Given the description of an element on the screen output the (x, y) to click on. 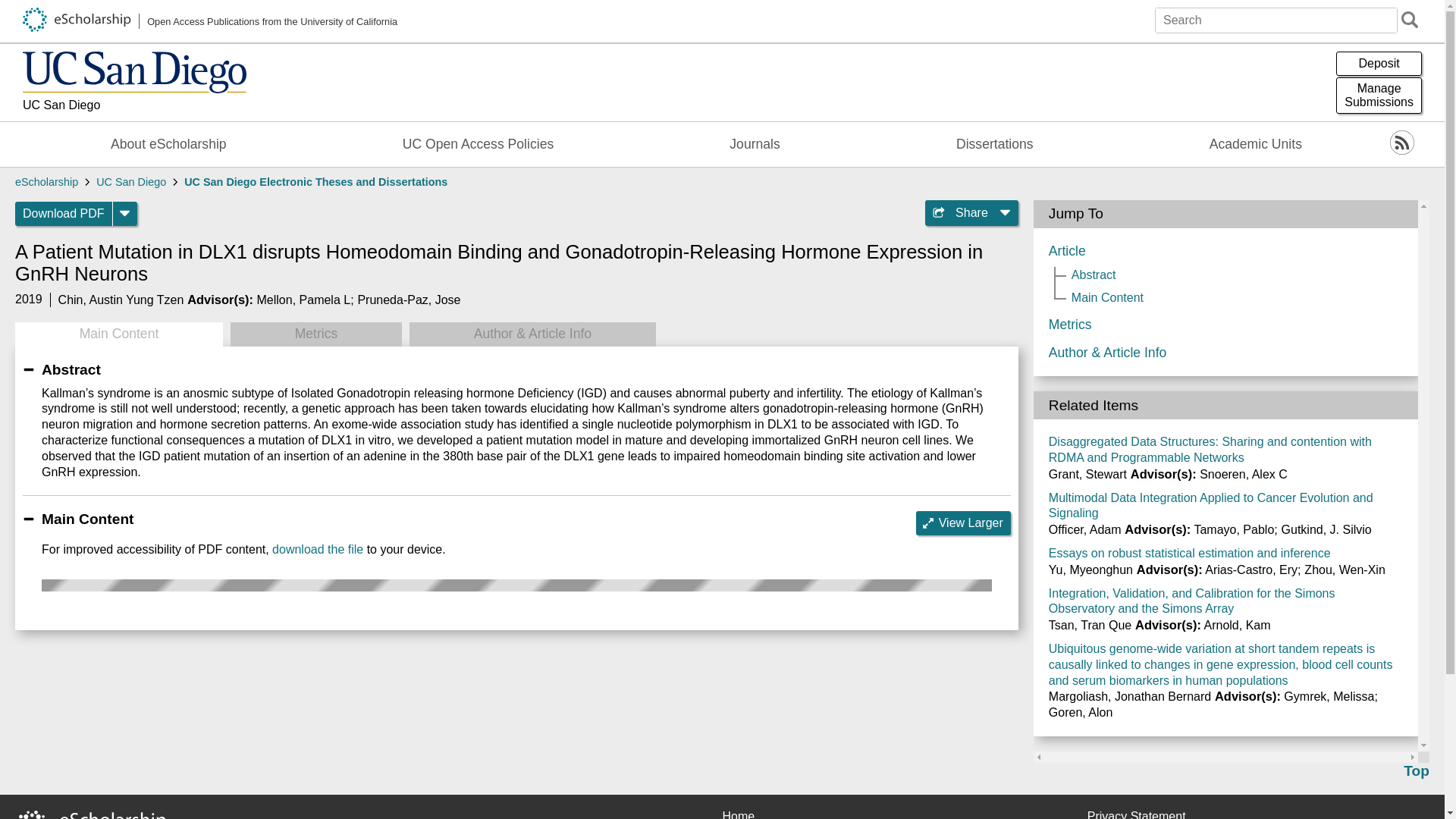
UC San Diego Electronic Theses and Dissertations (315, 182)
eScholarship (46, 182)
Open Access Publications from the University of California (210, 21)
UC Open Access Policies (477, 143)
Metrics (315, 334)
UC San Diego (130, 182)
Journals (754, 143)
Pruneda-Paz, Jose (408, 299)
Mellon, Pamela L (303, 299)
About eScholarship (168, 143)
Download PDF (63, 213)
Deposit (1379, 63)
Chin, Austin Yung Tzen (121, 299)
Dissertations (995, 143)
download the file (317, 549)
